Given the description of an element on the screen output the (x, y) to click on. 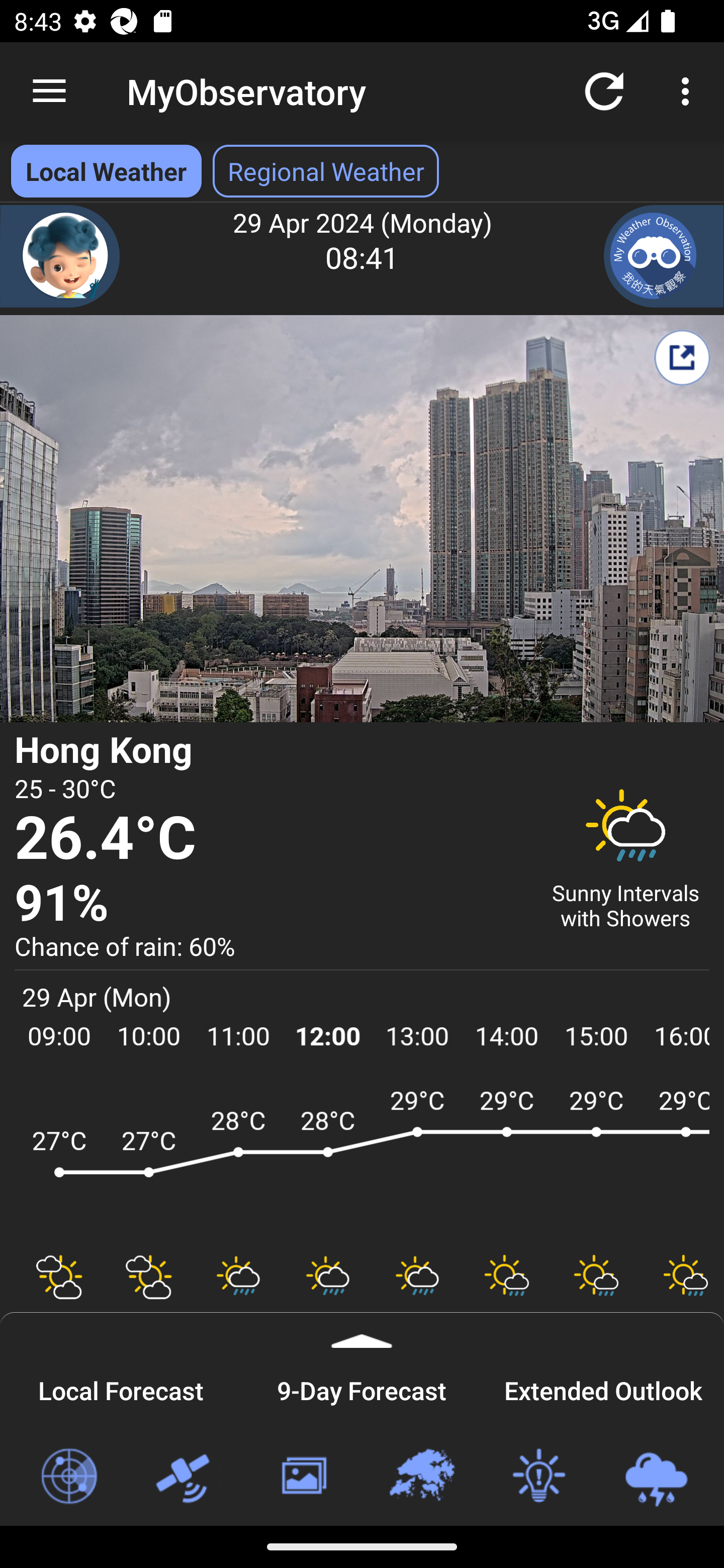
Navigate up (49, 91)
Refresh (604, 90)
More options (688, 90)
Local Weather Local Weather selected (105, 170)
Regional Weather Select Regional Weather (325, 170)
Chatbot (60, 256)
My Weather Observation (663, 256)
Share My Weather Report (681, 357)
26.4°C Temperature
26.4 degree Celsius (270, 839)
91% Relative Humidity
91 percent (270, 903)
ARWF (361, 1160)
Expand (362, 1330)
Local Forecast (120, 1387)
Extended Outlook (603, 1387)
Radar Images (68, 1476)
Satellite Images (185, 1476)
Weather Photos (302, 1476)
Regional Weather (420, 1476)
Weather Tips (537, 1476)
Loc-based Rain & Lightning Forecast (655, 1476)
